Given the description of an element on the screen output the (x, y) to click on. 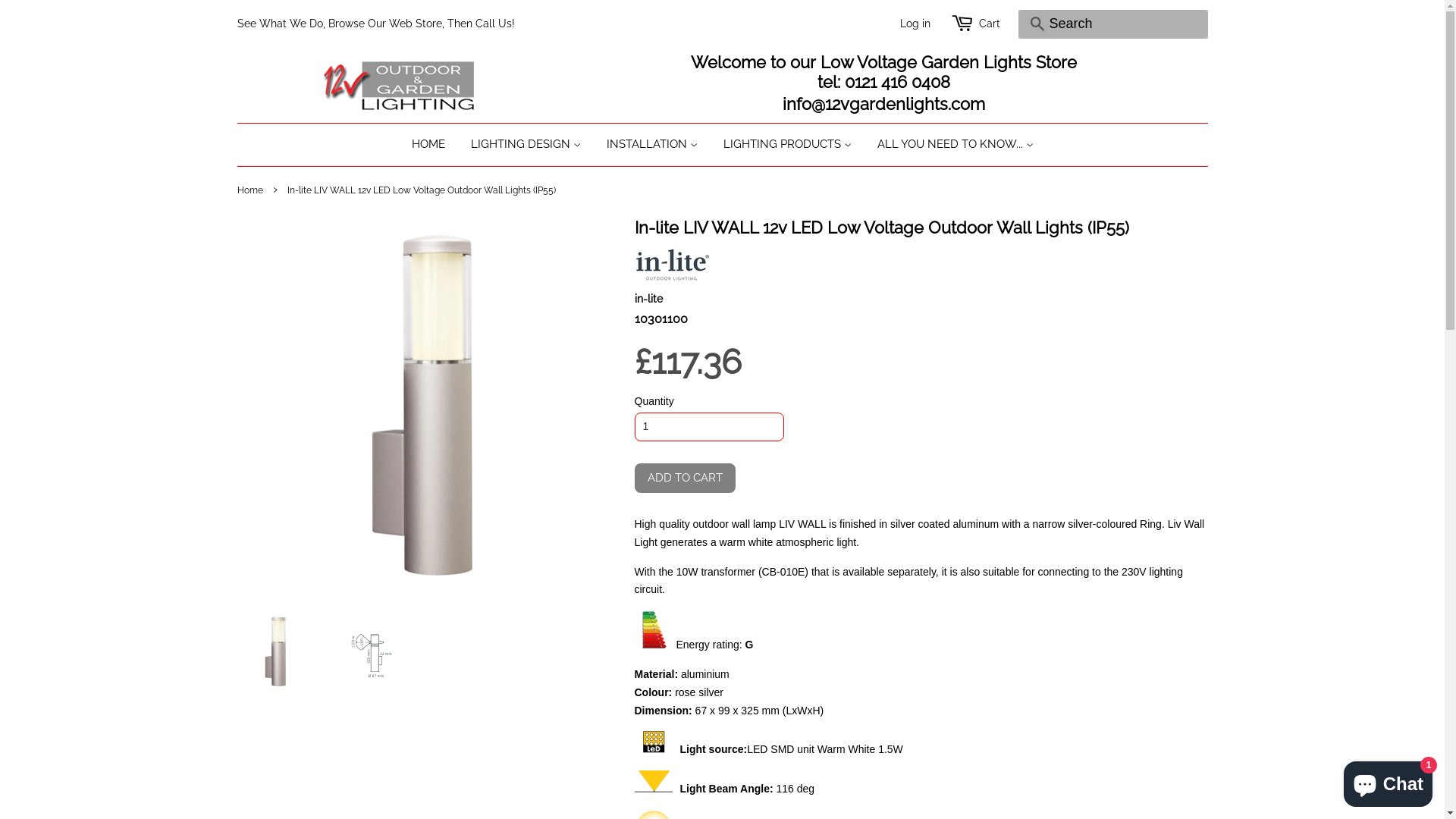
Cart Element type: text (988, 24)
Welcome to our Low Voltage Garden Lights Store Element type: text (883, 62)
info@12vgardenlights.com Element type: text (883, 104)
See What We Do, Browse Our Web Store, Then Call Us! Element type: text (375, 23)
LIGHTING DESIGN Element type: text (525, 144)
HOME Element type: text (433, 144)
INSTALLATION Element type: text (651, 144)
Log in Element type: text (914, 23)
ADD TO CART Element type: text (683, 477)
SEARCH Element type: text (1036, 23)
ALL YOU NEED TO KNOW... Element type: text (949, 144)
tel: 0121 416 0408 Element type: text (883, 82)
Shopify online store chat Element type: hover (1388, 780)
Home Element type: text (251, 190)
LIGHTING PRODUCTS Element type: text (786, 144)
